Given the description of an element on the screen output the (x, y) to click on. 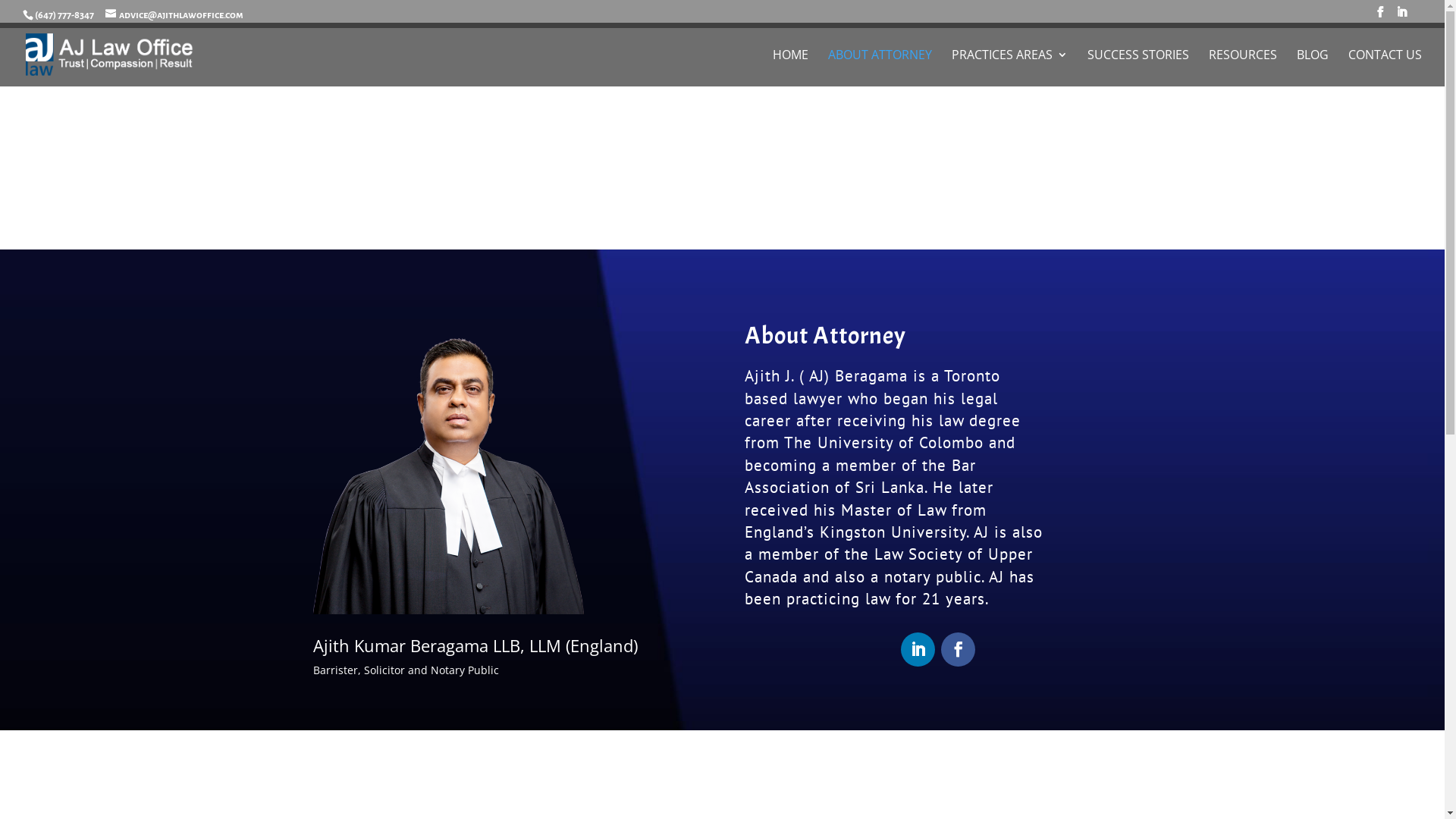
PRACTICES AREAS Element type: text (1009, 67)
LinkedIn Element type: hover (917, 649)
BLOG Element type: text (1312, 67)
Facebook Element type: hover (958, 649)
RESOURCES Element type: text (1242, 67)
HOME Element type: text (790, 67)
ABOUT ATTORNEY Element type: text (879, 67)
CONTACT US Element type: text (1384, 67)
advice@ajithlawoffice.com Element type: text (174, 14)
SUCCESS STORIES Element type: text (1138, 67)
